Given the description of an element on the screen output the (x, y) to click on. 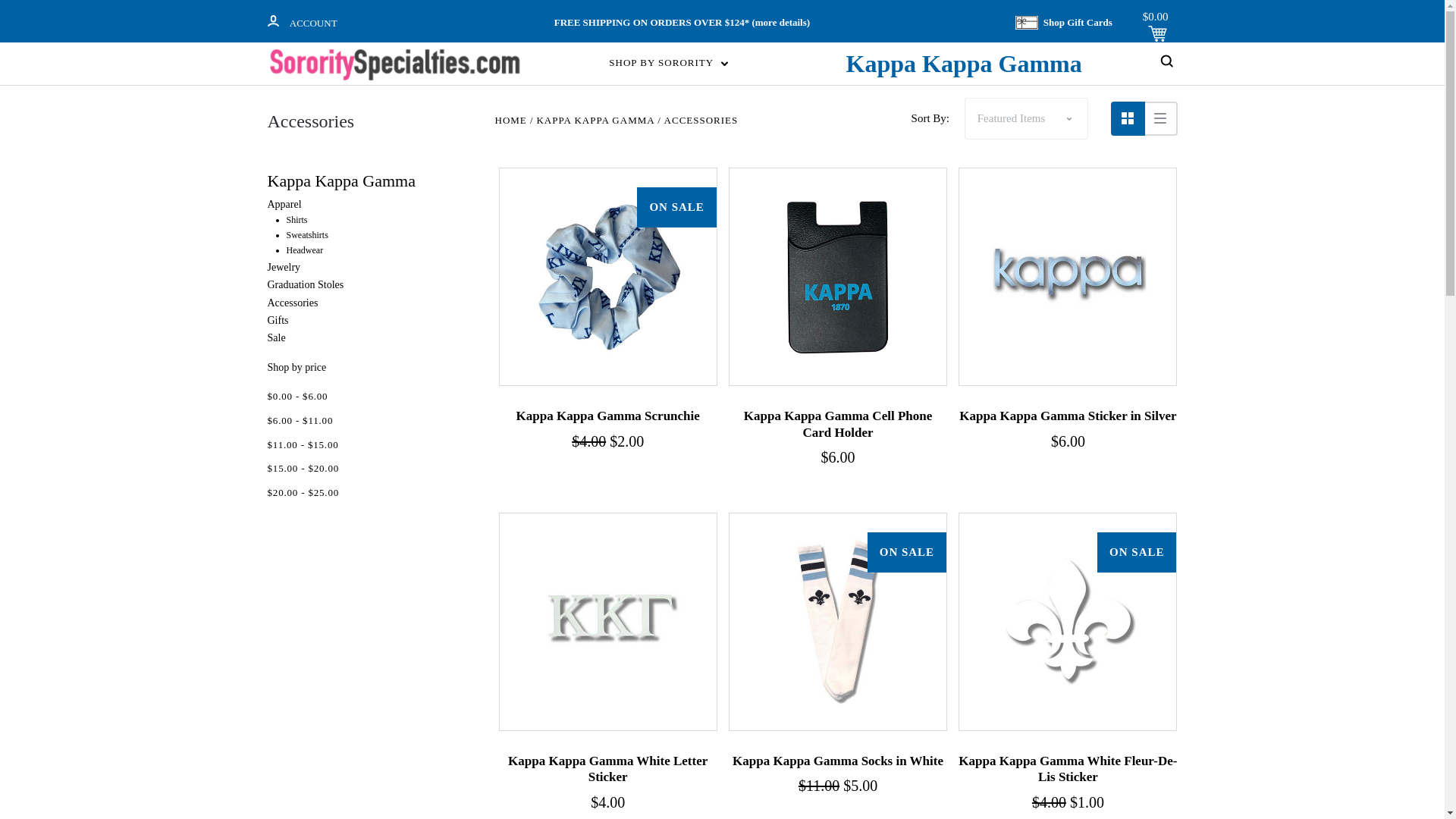
Sale (275, 337)
ACCOUNT (272, 20)
ACCESSORIES (700, 120)
list icon (1159, 118)
Sweatshirts (307, 235)
Jewelry (282, 266)
Graduation Stoles (304, 284)
Headwear (304, 249)
Shirts (296, 219)
more details (780, 21)
